Given the description of an element on the screen output the (x, y) to click on. 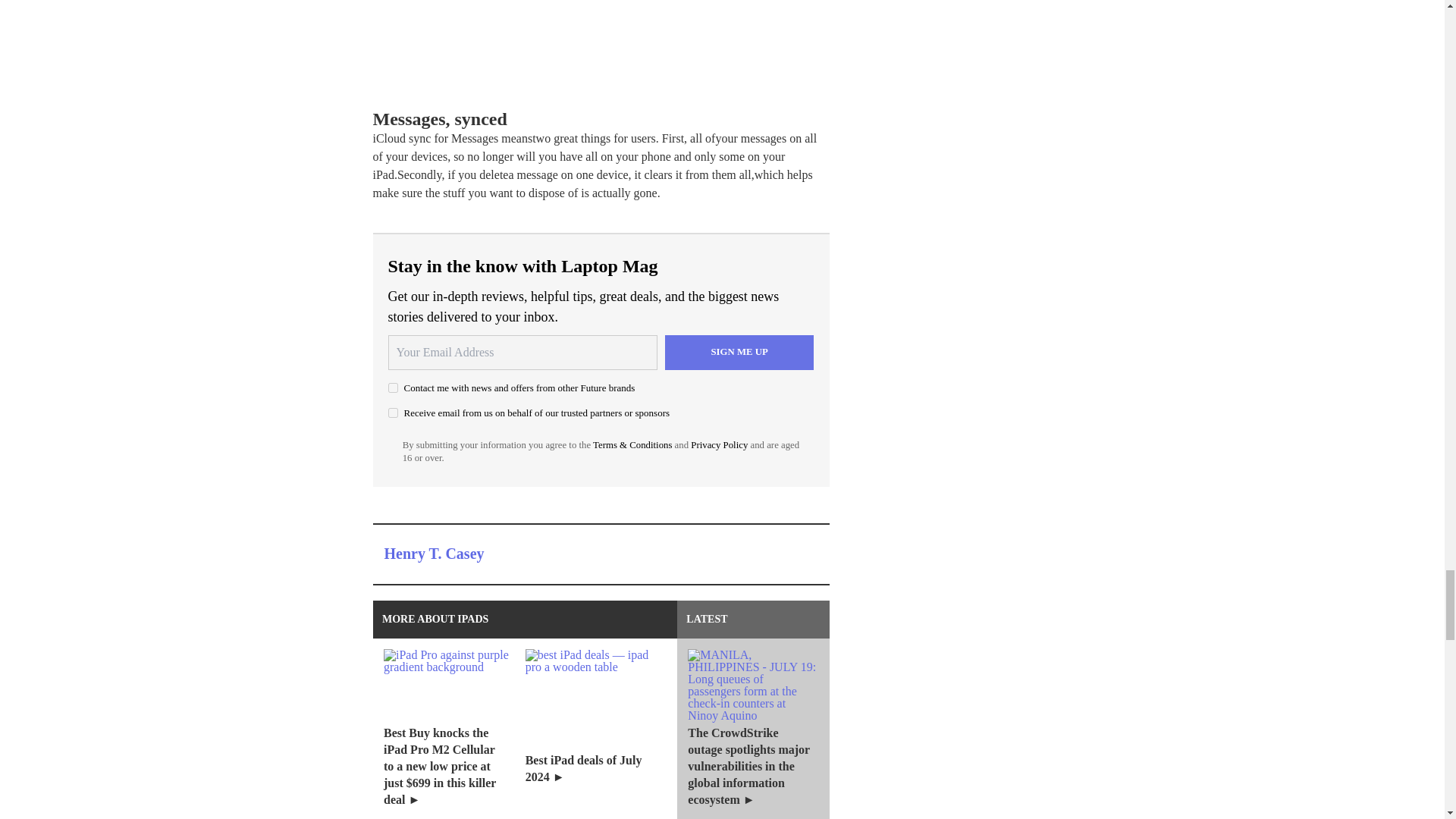
Sign me up (739, 352)
on (392, 388)
on (392, 412)
